Given the description of an element on the screen output the (x, y) to click on. 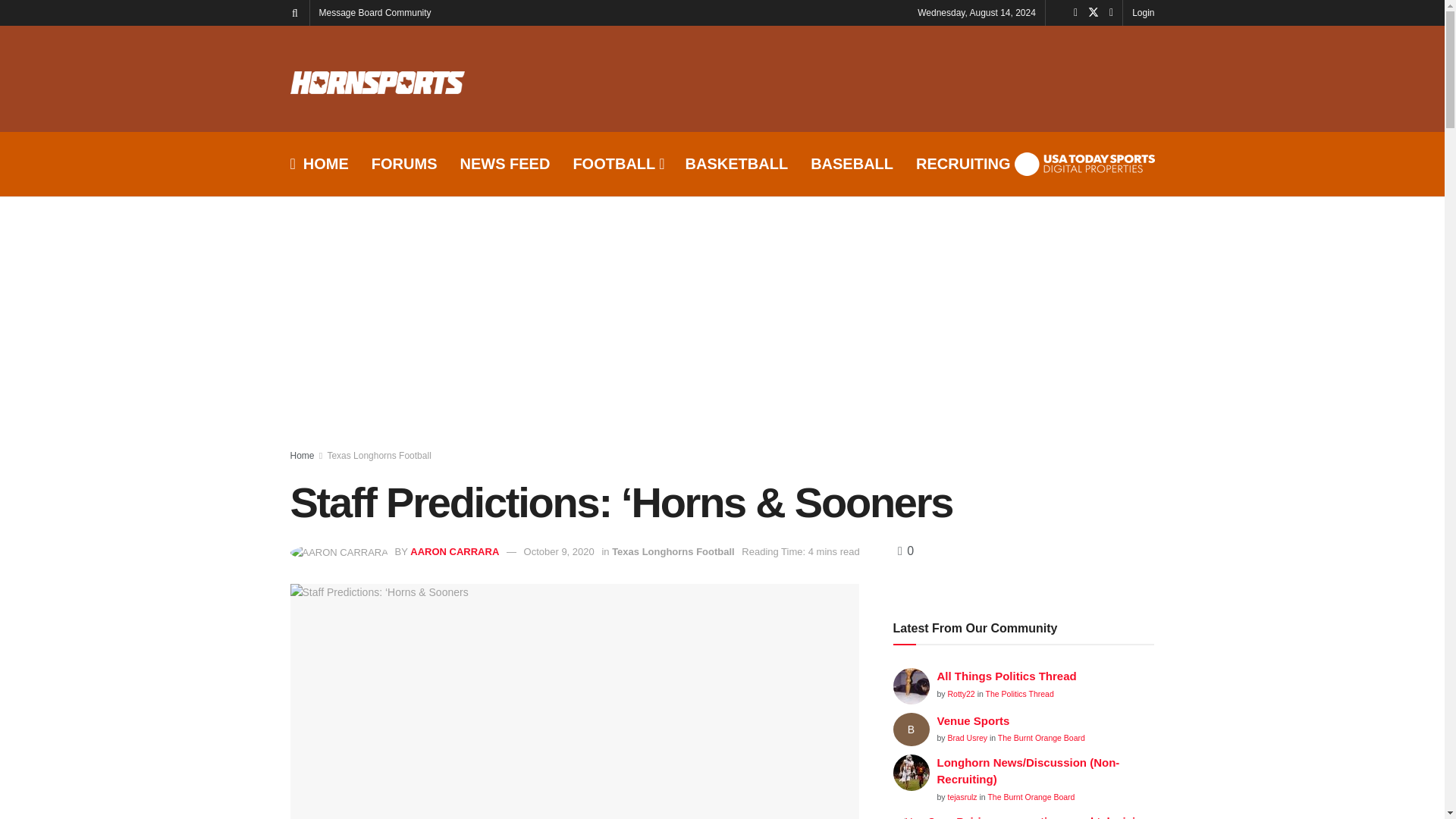
0 (906, 550)
Message Board Community (374, 12)
RECRUITING (962, 163)
Texas Longhorns Football (673, 551)
NEWS FEED (505, 163)
Login (1143, 12)
October 9, 2020 (559, 551)
AARON CARRARA (454, 551)
HOME (318, 163)
